Given the description of an element on the screen output the (x, y) to click on. 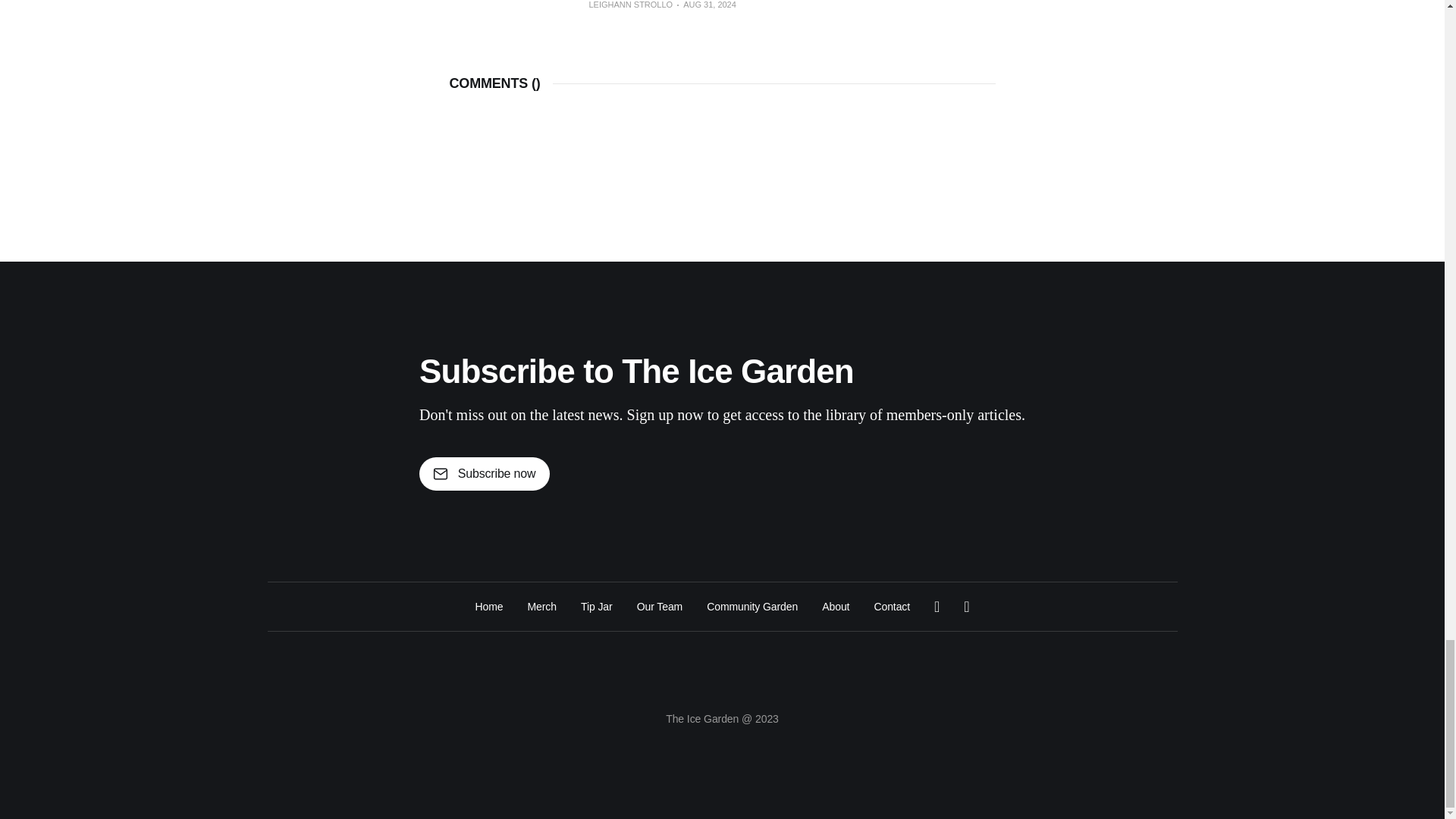
About (835, 606)
Subscribe now (484, 473)
Our Team (659, 606)
Merch (541, 606)
Contact (891, 606)
Home (488, 606)
Community Garden (751, 606)
Tip Jar (596, 606)
